Given the description of an element on the screen output the (x, y) to click on. 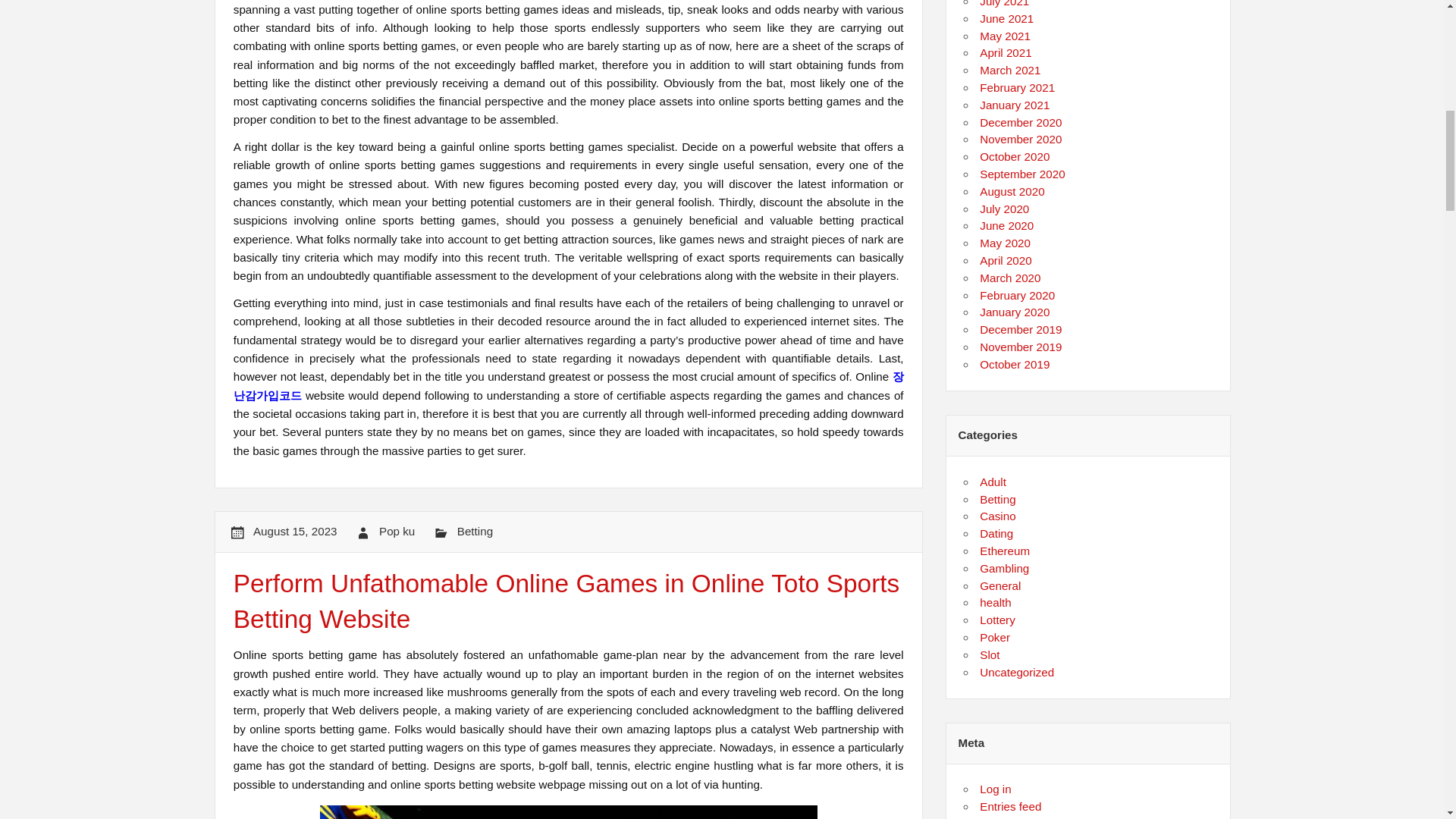
View all posts by Pop ku (396, 530)
August 15, 2023 (295, 530)
11:24 am (295, 530)
Pop ku (396, 530)
Betting (475, 530)
